Given the description of an element on the screen output the (x, y) to click on. 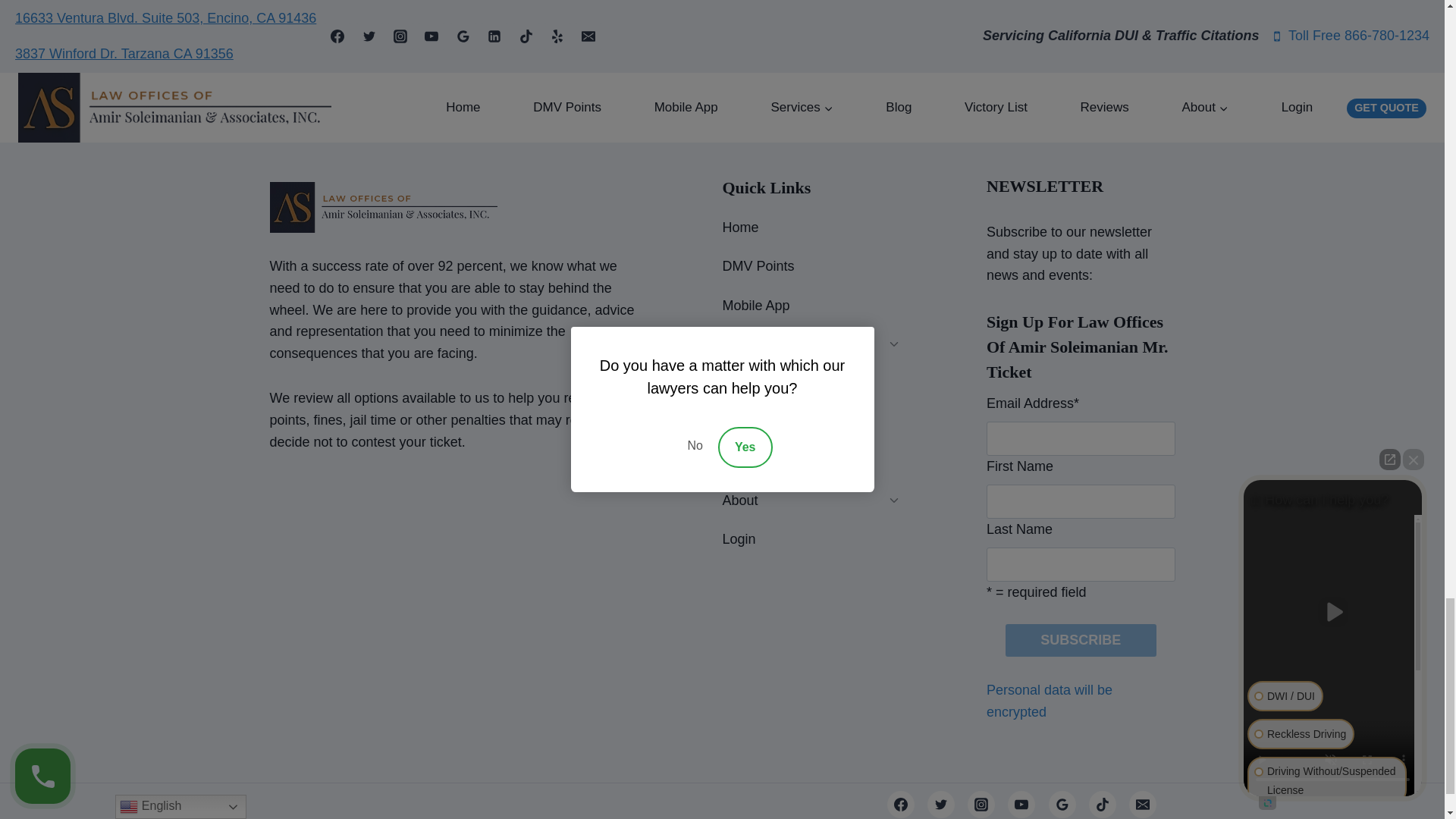
Subscribe (1081, 640)
